Given the description of an element on the screen output the (x, y) to click on. 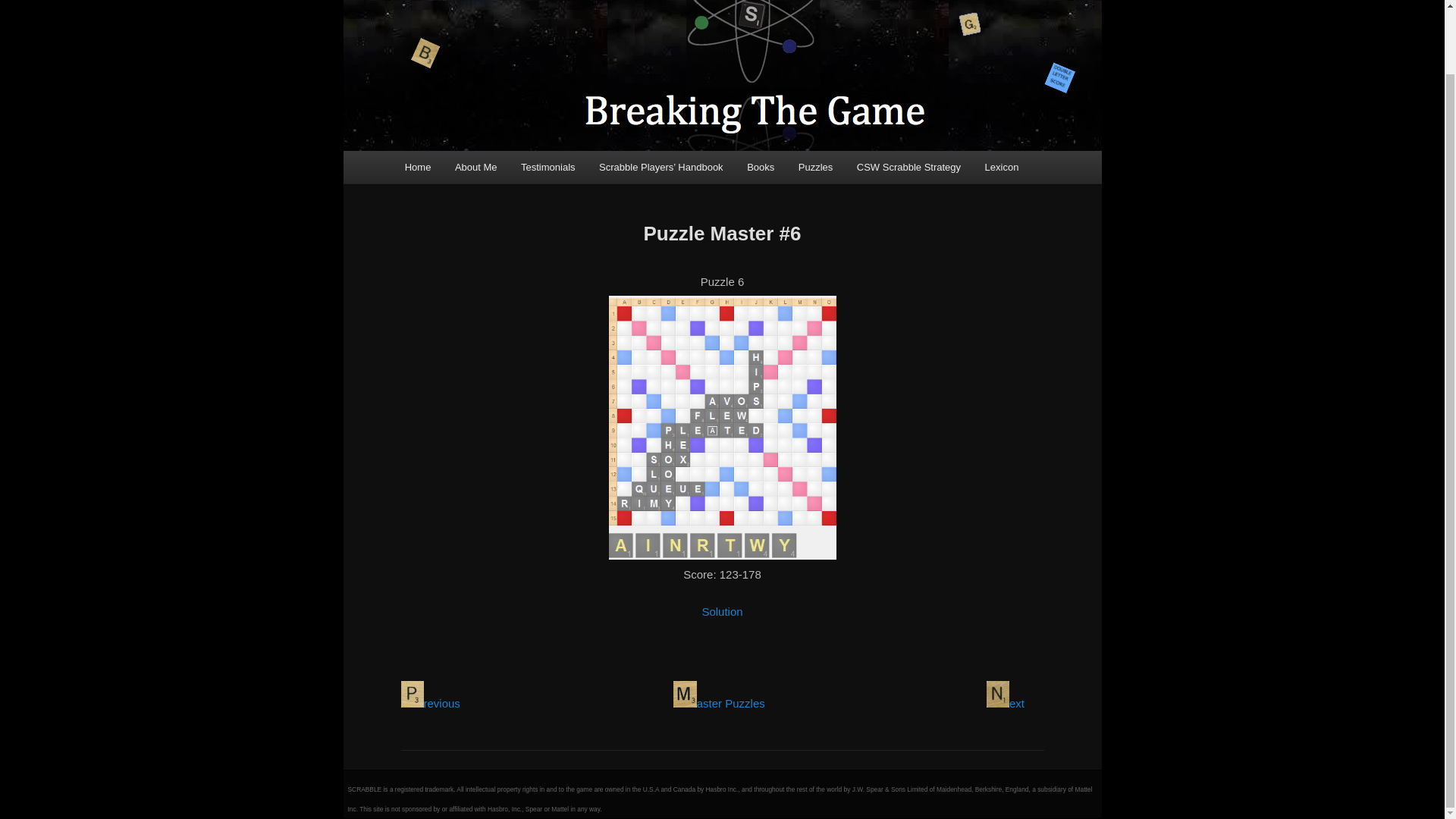
revious (430, 703)
About Me (475, 166)
Solution (721, 611)
Home (417, 166)
Books (760, 166)
CSW Scrabble Strategy (908, 166)
aster Puzzles (718, 703)
Articles (908, 166)
Puzzles (815, 166)
Testimonials (547, 166)
ext (1006, 703)
Lexicon (1001, 166)
